Given the description of an element on the screen output the (x, y) to click on. 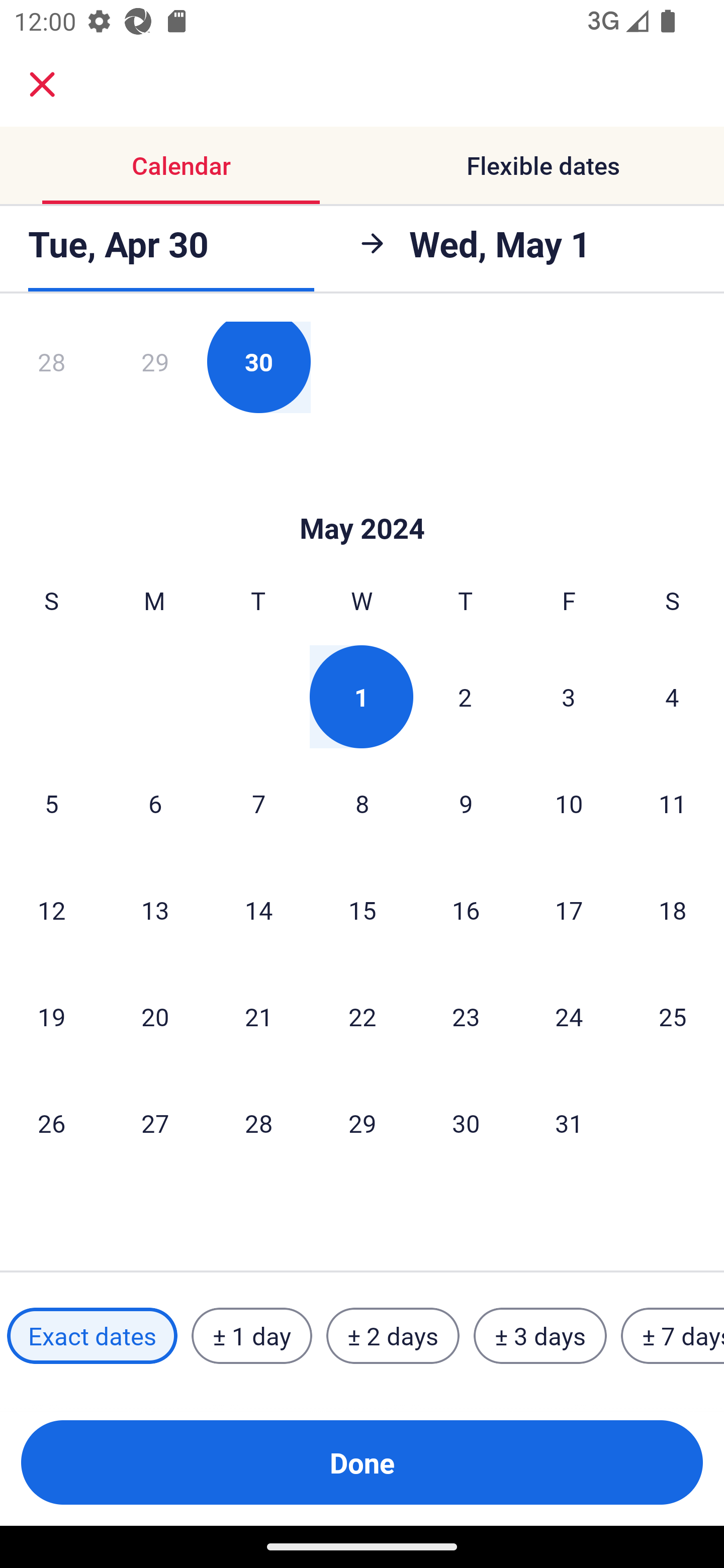
close. (42, 84)
Flexible dates (542, 164)
28 Sunday, April 28, 2024 (51, 366)
29 Monday, April 29, 2024 (155, 366)
Skip to Done (362, 498)
2 Thursday, May 2, 2024 (464, 696)
3 Friday, May 3, 2024 (568, 696)
4 Saturday, May 4, 2024 (672, 696)
5 Sunday, May 5, 2024 (51, 802)
6 Monday, May 6, 2024 (155, 802)
7 Tuesday, May 7, 2024 (258, 802)
8 Wednesday, May 8, 2024 (362, 802)
9 Thursday, May 9, 2024 (465, 802)
10 Friday, May 10, 2024 (569, 802)
11 Saturday, May 11, 2024 (672, 802)
12 Sunday, May 12, 2024 (51, 909)
13 Monday, May 13, 2024 (155, 909)
14 Tuesday, May 14, 2024 (258, 909)
15 Wednesday, May 15, 2024 (362, 909)
16 Thursday, May 16, 2024 (465, 909)
17 Friday, May 17, 2024 (569, 909)
18 Saturday, May 18, 2024 (672, 909)
19 Sunday, May 19, 2024 (51, 1015)
20 Monday, May 20, 2024 (155, 1015)
21 Tuesday, May 21, 2024 (258, 1015)
22 Wednesday, May 22, 2024 (362, 1015)
23 Thursday, May 23, 2024 (465, 1015)
24 Friday, May 24, 2024 (569, 1015)
25 Saturday, May 25, 2024 (672, 1015)
26 Sunday, May 26, 2024 (51, 1122)
27 Monday, May 27, 2024 (155, 1122)
28 Tuesday, May 28, 2024 (258, 1122)
29 Wednesday, May 29, 2024 (362, 1122)
30 Thursday, May 30, 2024 (465, 1122)
31 Friday, May 31, 2024 (569, 1122)
Exact dates (92, 1335)
± 1 day (251, 1335)
± 2 days (392, 1335)
± 3 days (539, 1335)
± 7 days (672, 1335)
Done (361, 1462)
